Given the description of an element on the screen output the (x, y) to click on. 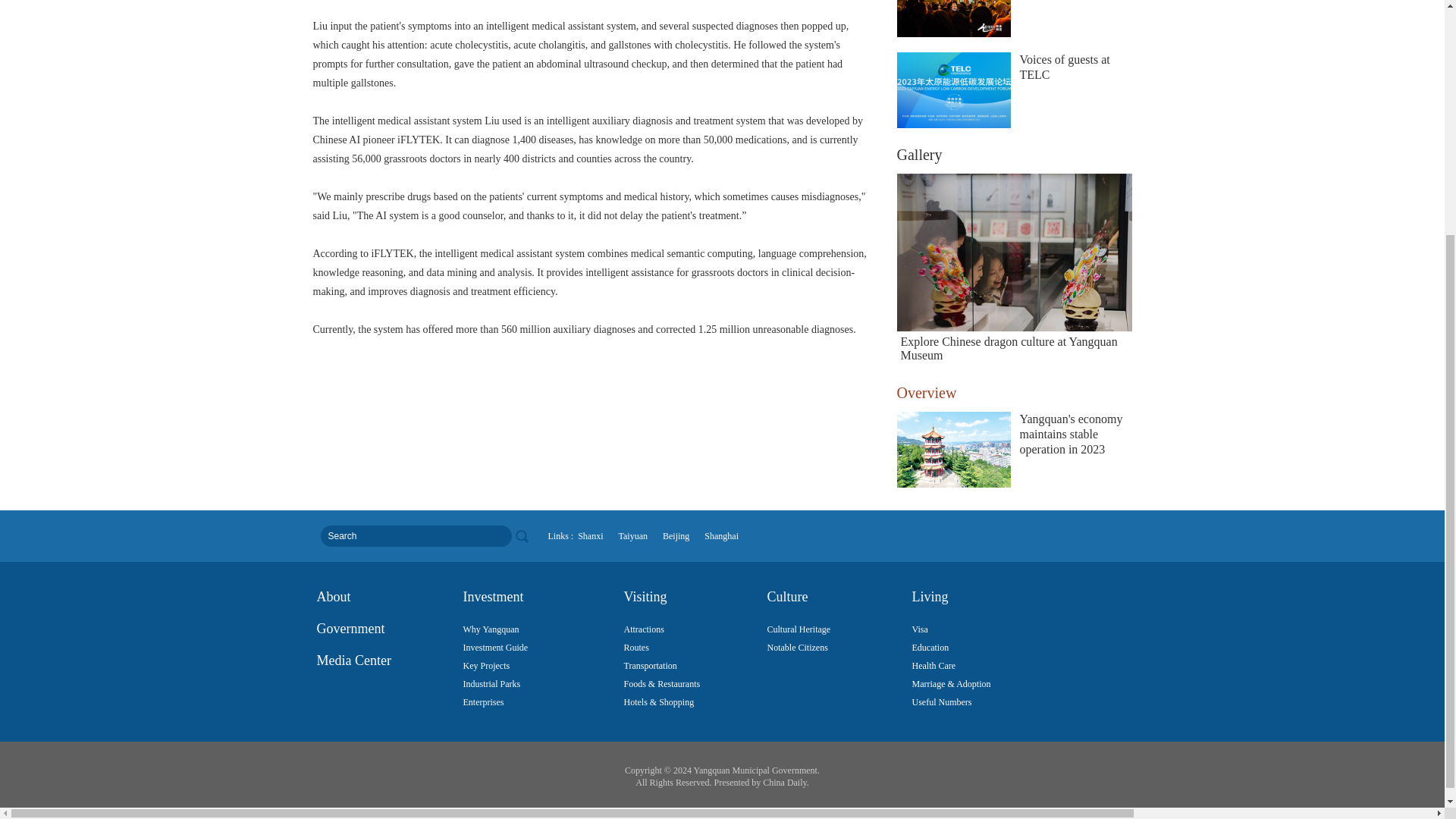
Search (415, 536)
